Given the description of an element on the screen output the (x, y) to click on. 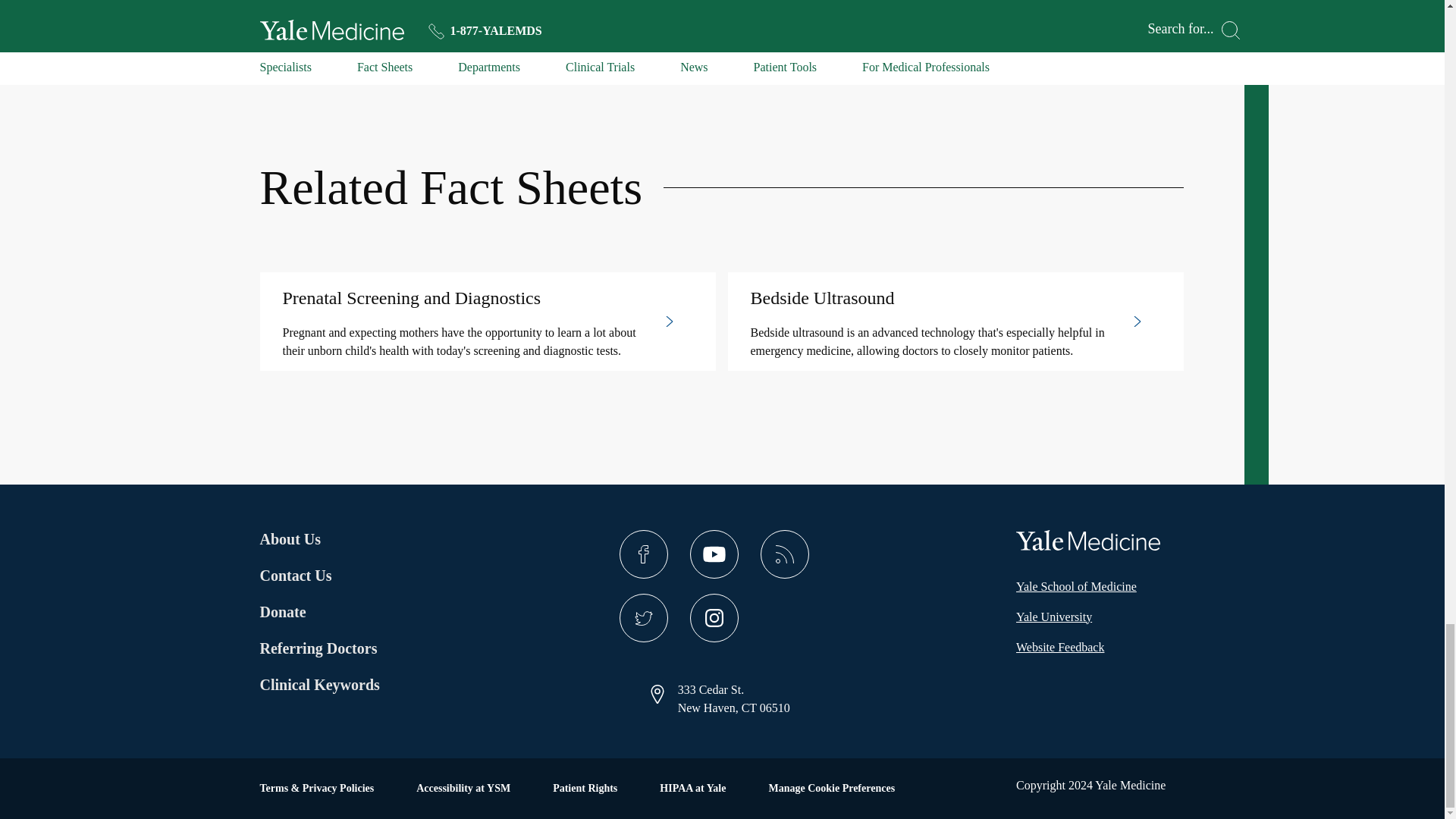
About Us (318, 538)
Referring Doctors (318, 648)
Donate (318, 611)
Clinical Keywords (339, 684)
Contact Us (318, 575)
